Given the description of an element on the screen output the (x, y) to click on. 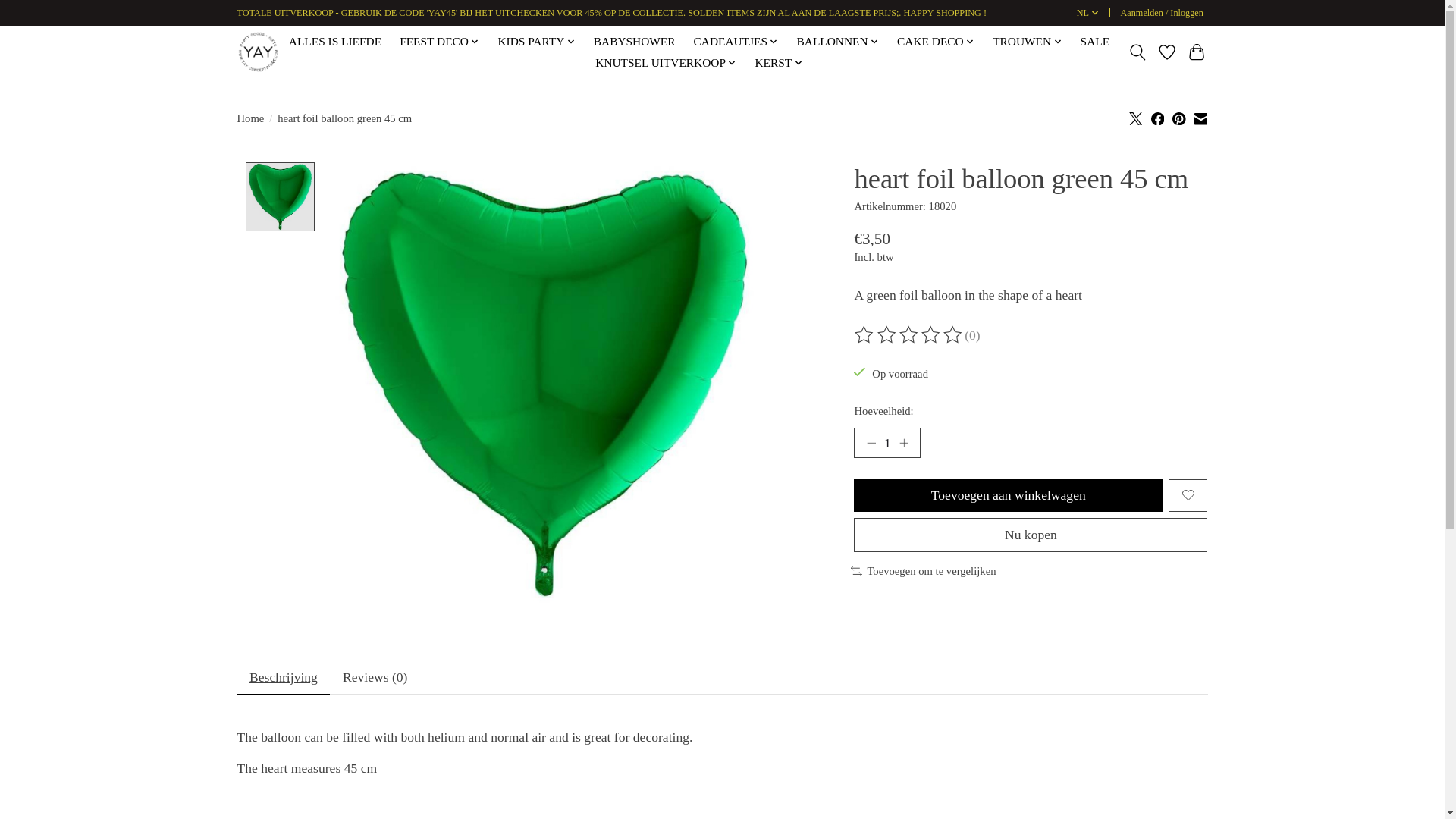
Share on Facebook (1157, 118)
KIDS PARTY (536, 41)
CADEAUTJES (735, 41)
Share by Email (1200, 118)
BALLONNEN (836, 41)
NL (1087, 13)
ALLES IS LIEFDE (335, 41)
Mijn account (1162, 13)
Share on Pinterest (1178, 118)
BABYSHOWER (634, 41)
1 (886, 442)
FEEST DECO (439, 41)
Share on X (1135, 118)
